Given the description of an element on the screen output the (x, y) to click on. 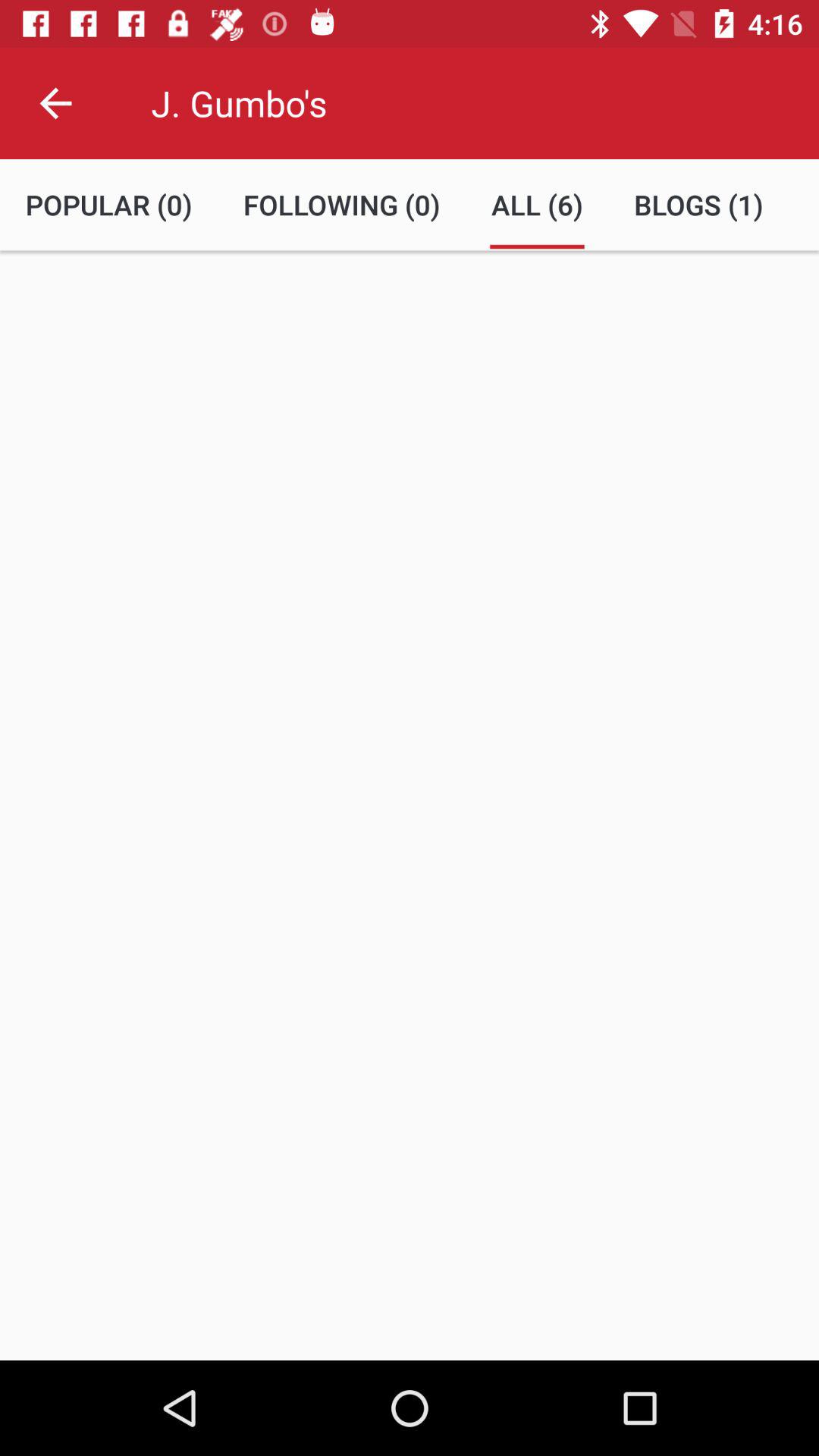
turn on the all (6) icon (536, 204)
